Given the description of an element on the screen output the (x, y) to click on. 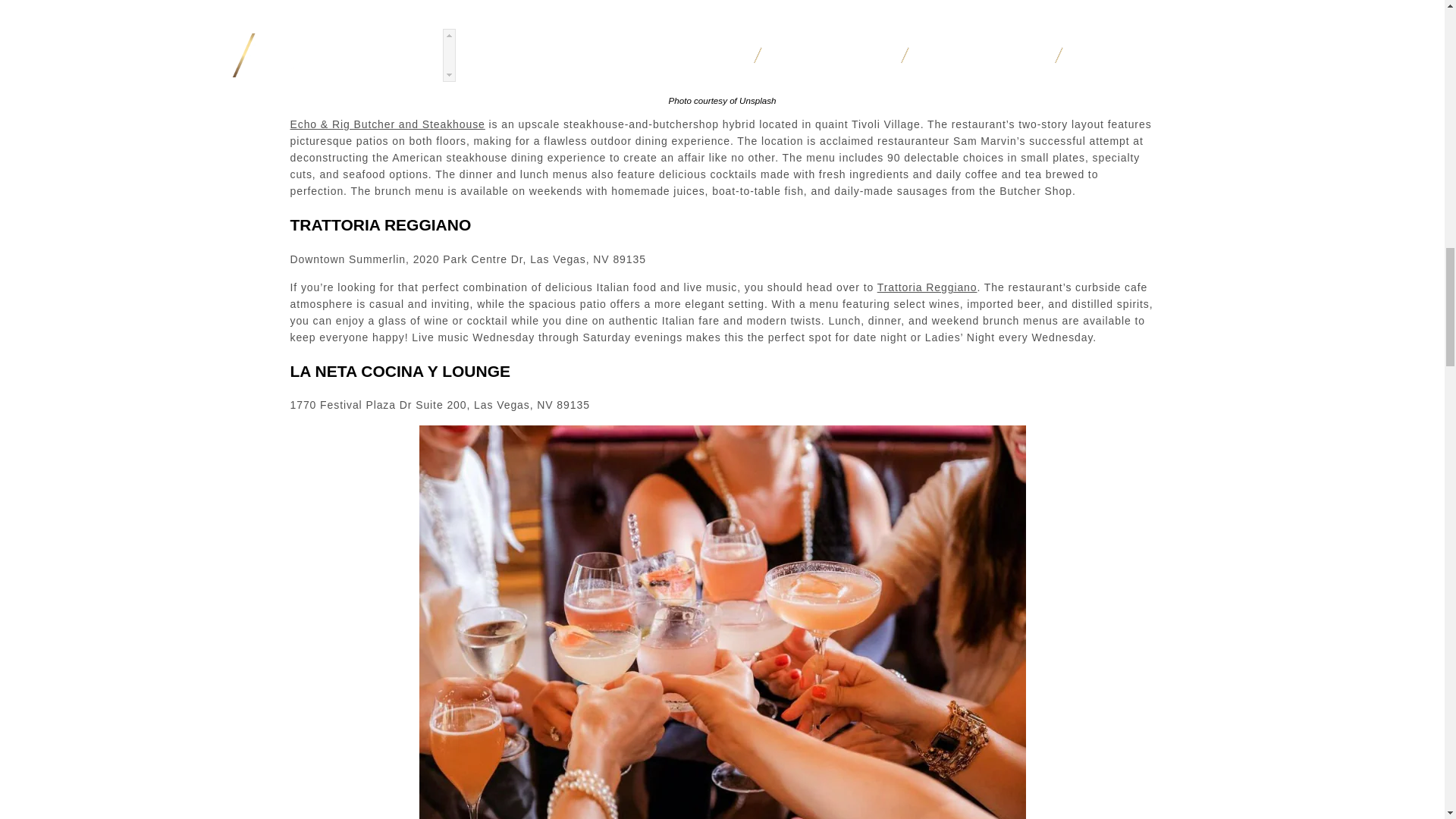
Trattoria Reggiano (926, 287)
